Given the description of an element on the screen output the (x, y) to click on. 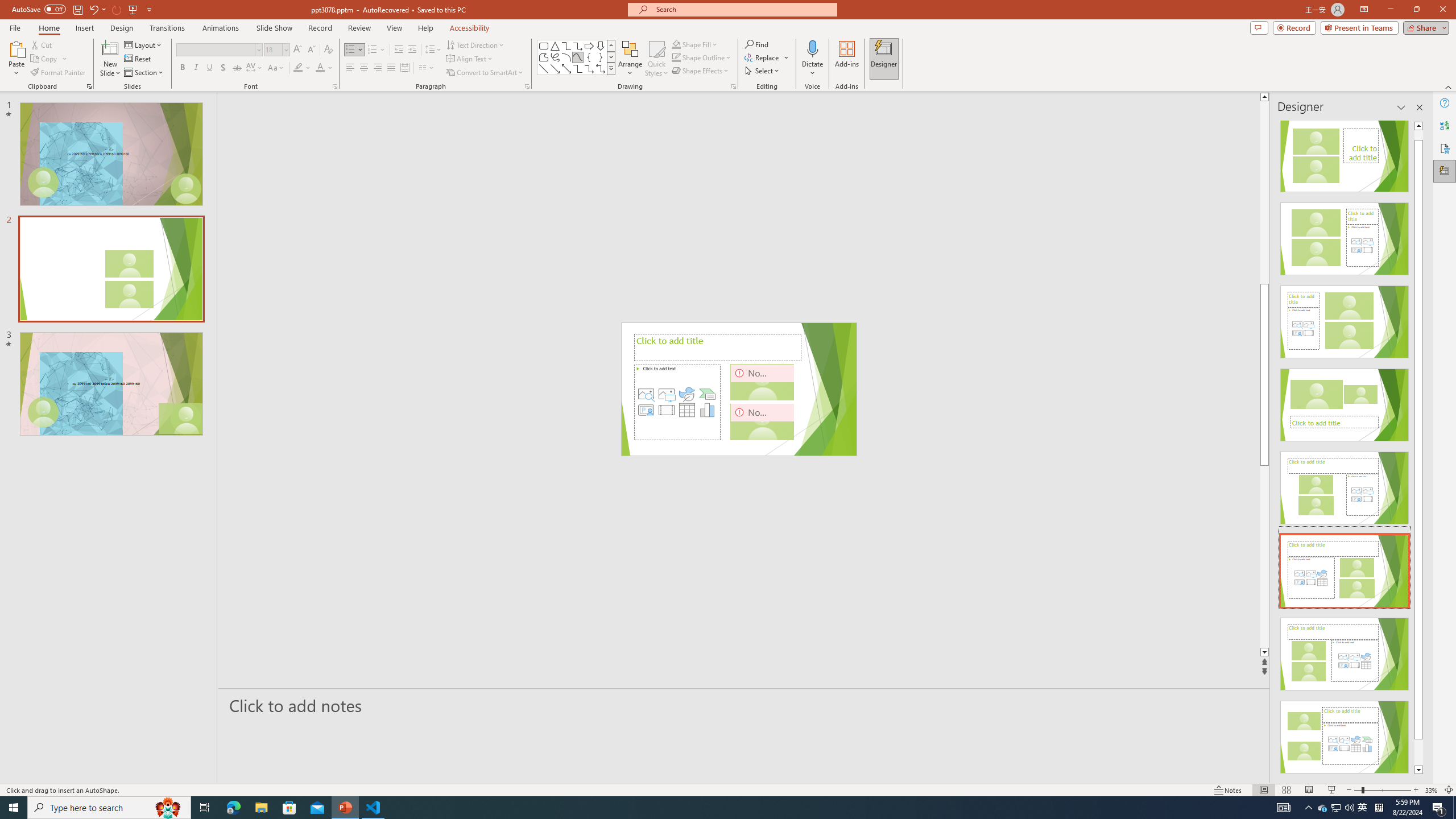
Insert a SmartArt Graphic (707, 394)
